Given the description of an element on the screen output the (x, y) to click on. 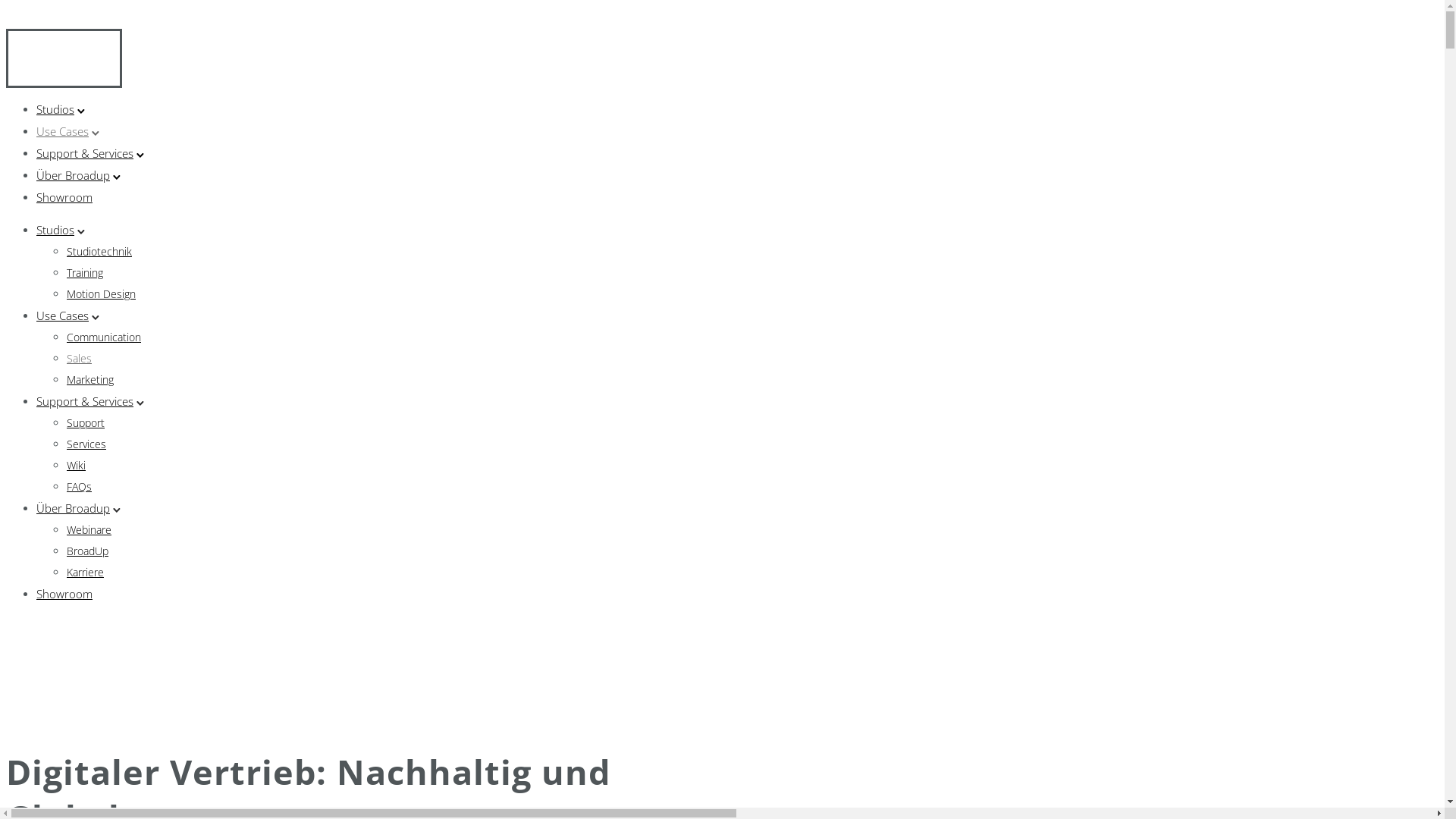
BroadUp Element type: text (87, 550)
Showroom Element type: text (64, 196)
Communication Element type: text (103, 336)
Training Element type: text (84, 272)
Wiki Element type: text (75, 465)
Sales Element type: text (78, 358)
Karriere Element type: text (84, 571)
Studiotechnik Element type: text (98, 251)
Support & Services Element type: text (84, 152)
Marketing Element type: text (89, 379)
Support Element type: text (85, 422)
Support & Services Element type: text (84, 400)
Use Cases Element type: text (62, 315)
FAQs Element type: text (78, 486)
Studios Element type: text (55, 229)
Webinare Element type: text (88, 529)
Services Element type: text (86, 443)
Motion Design Element type: text (100, 293)
Showroom Element type: text (64, 593)
Use Cases Element type: text (62, 130)
Studios Element type: text (55, 108)
